Given the description of an element on the screen output the (x, y) to click on. 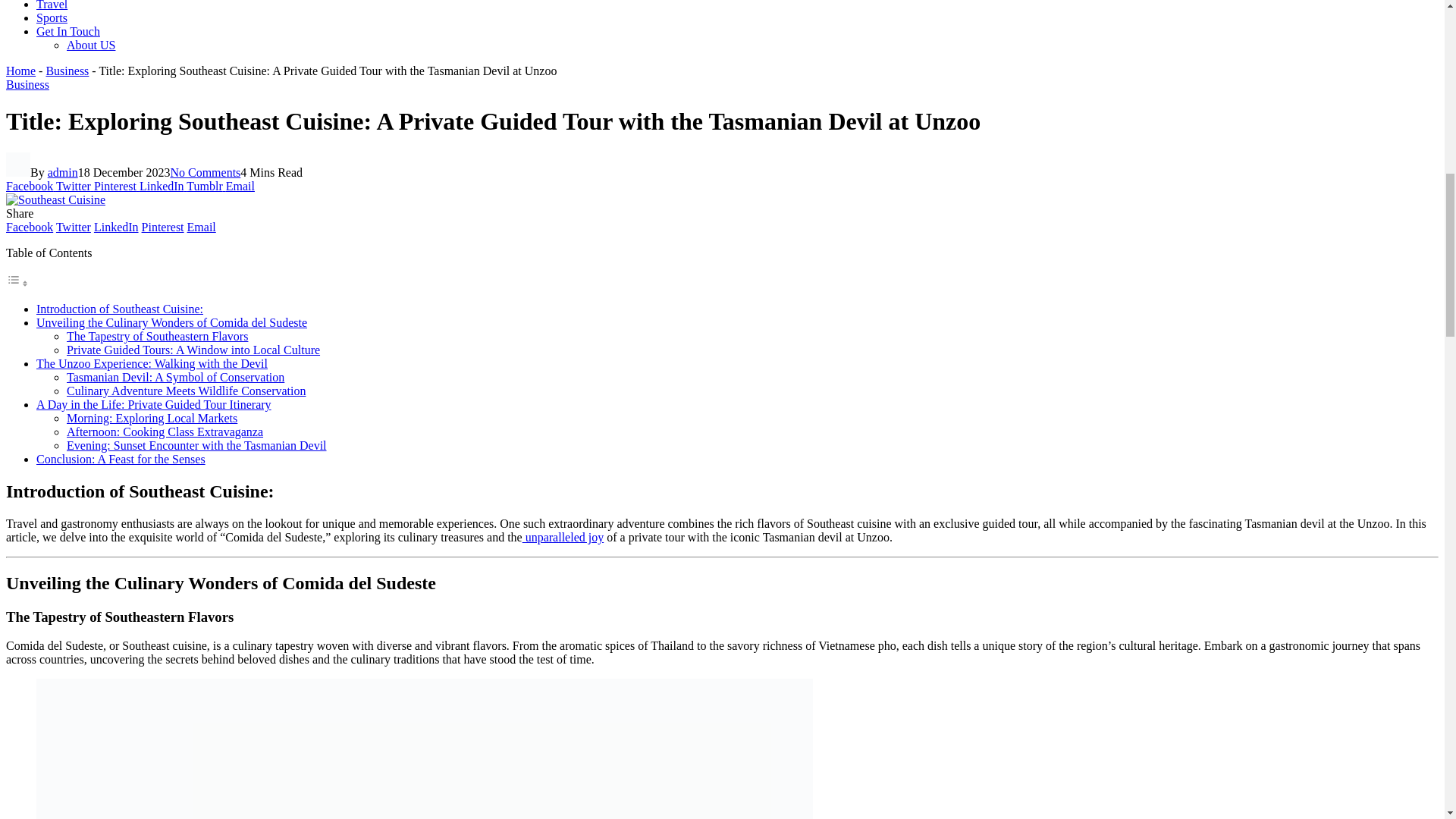
Sports (51, 17)
Share on Pinterest (116, 185)
Travel (51, 5)
Share on Tumblr (205, 185)
Share via Email (239, 185)
Share on Facebook (30, 185)
Twitter (75, 185)
Facebook (28, 226)
Tumblr (205, 185)
